Given the description of an element on the screen output the (x, y) to click on. 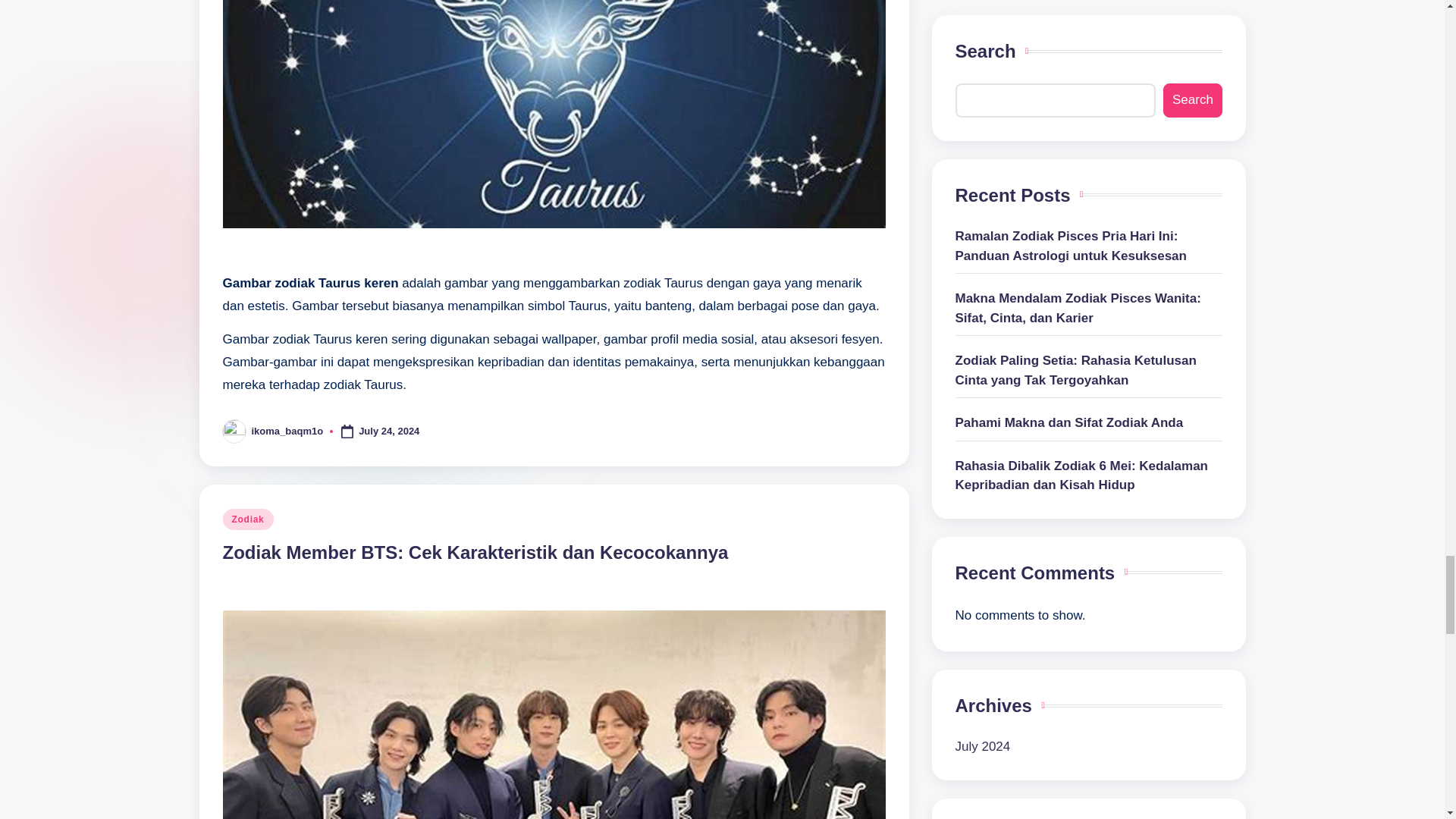
Zodiak Member BTS: Cek Karakteristik dan Kecocokannya (475, 552)
